Given the description of an element on the screen output the (x, y) to click on. 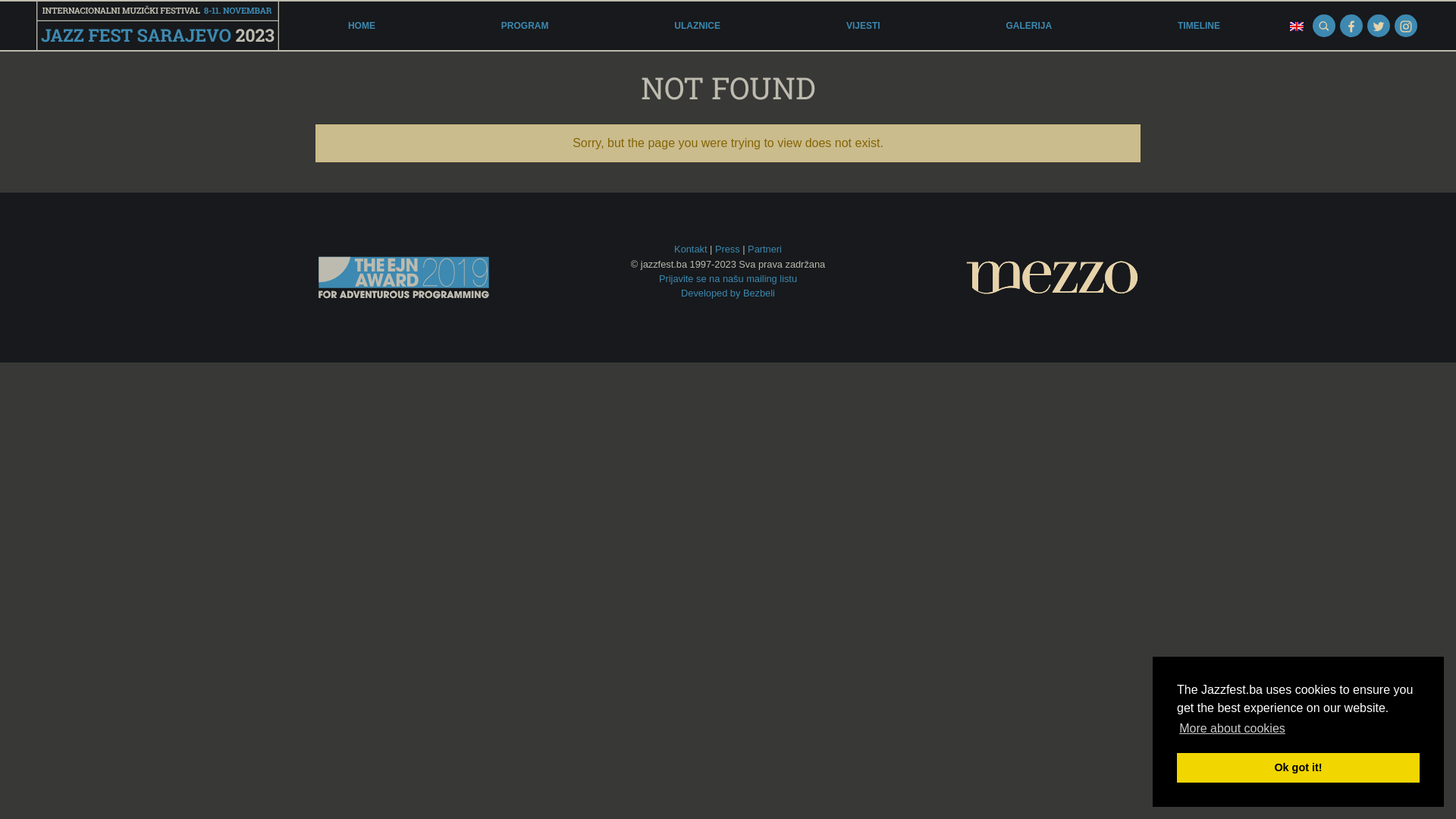
More about cookies Element type: text (1231, 728)
VIJESTI Element type: text (863, 25)
PROGRAM Element type: text (525, 25)
Kontakt Element type: text (690, 248)
Ok got it! Element type: text (1297, 767)
GALERIJA Element type: text (1028, 25)
Partneri Element type: text (764, 248)
Search Element type: hover (1323, 25)
Developed by Bezbeli Element type: text (727, 292)
HOME Element type: text (361, 25)
jazzfest.ba Element type: hover (157, 25)
Press Element type: text (727, 248)
TIMELINE Element type: text (1198, 25)
ULAZNICE Element type: text (697, 25)
